Given the description of an element on the screen output the (x, y) to click on. 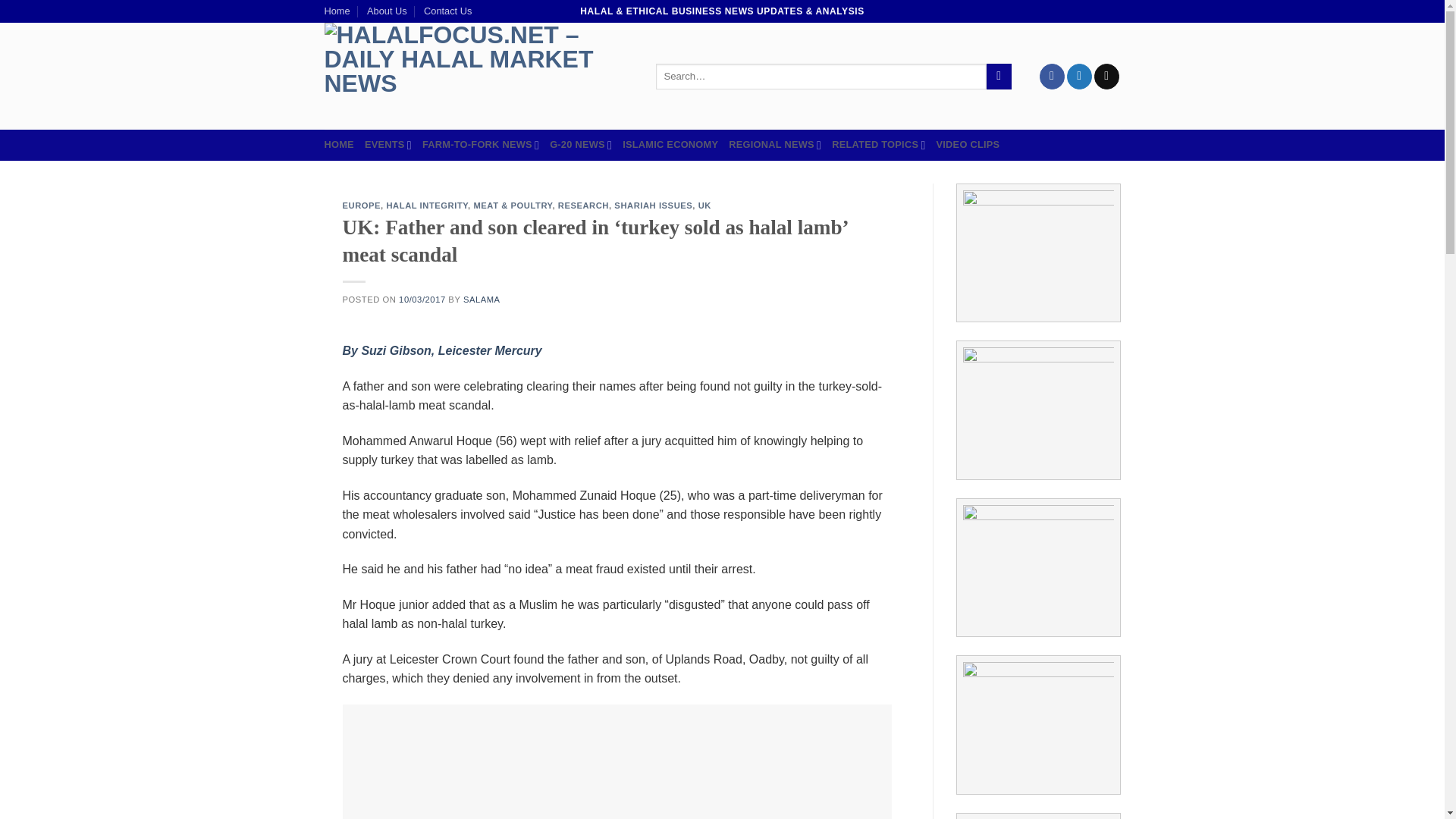
FARM-TO-FORK NEWS (480, 144)
HOME (338, 144)
Follow on Facebook (1051, 76)
EVENTS (388, 144)
Follow on Twitter (1079, 76)
Home (337, 11)
G-20 NEWS (580, 144)
Contact Us (447, 11)
About Us (386, 11)
